Given the description of an element on the screen output the (x, y) to click on. 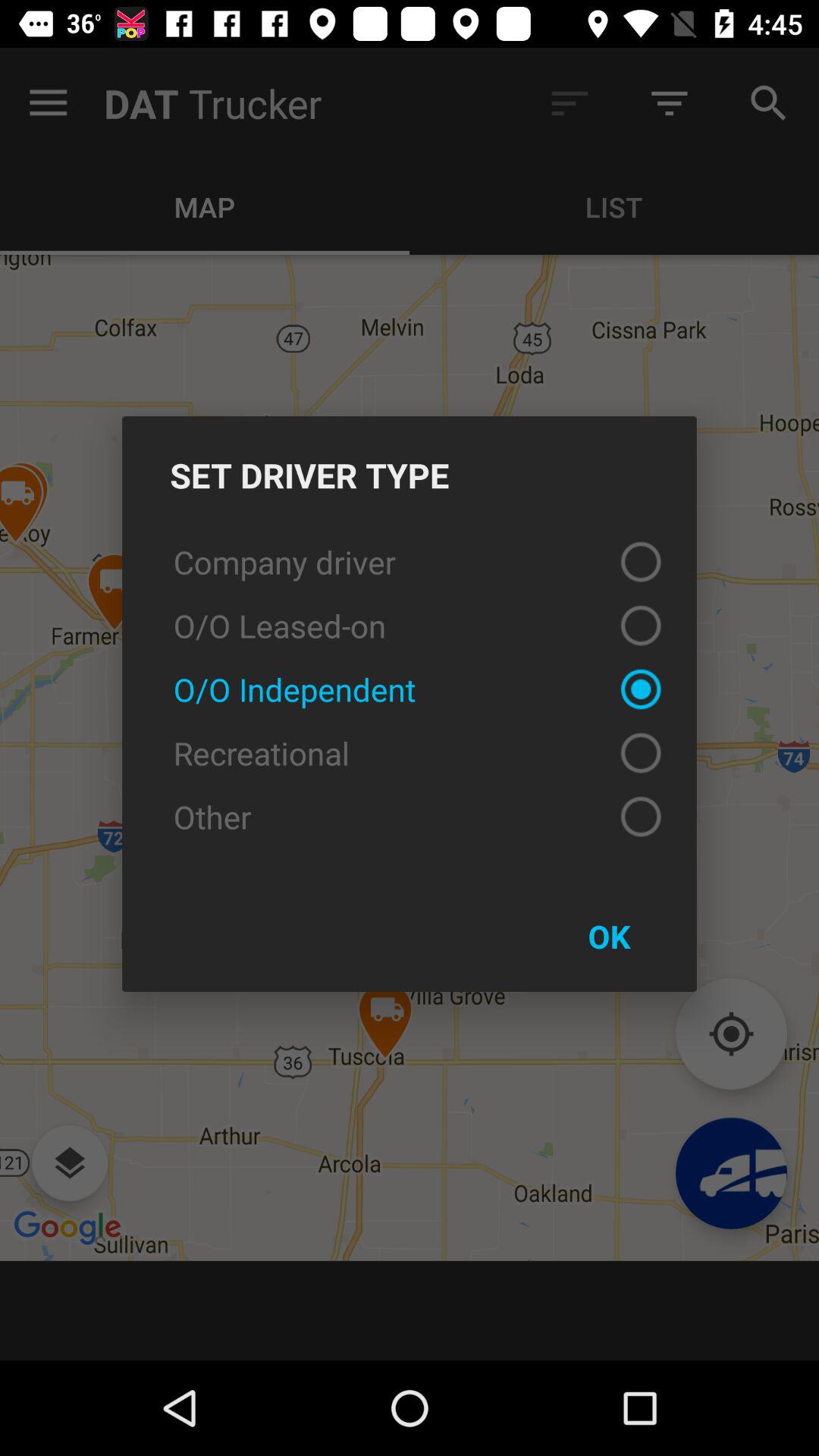
scroll until the other icon (409, 816)
